Given the description of an element on the screen output the (x, y) to click on. 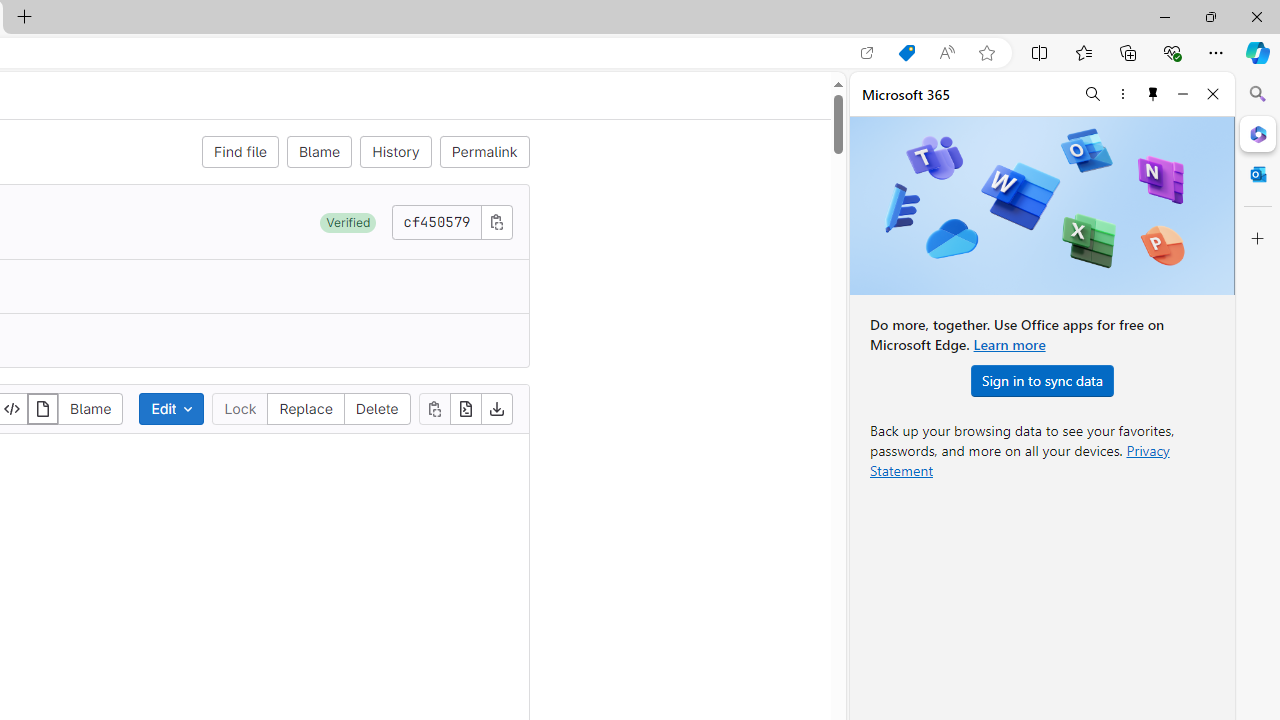
History (395, 151)
Download (496, 408)
Display rendered file (43, 408)
Edit (171, 408)
Class: s16 gl-icon gl-button-icon  (496, 221)
Learn more about Microsoft Office. (1008, 344)
